Given the description of an element on the screen output the (x, y) to click on. 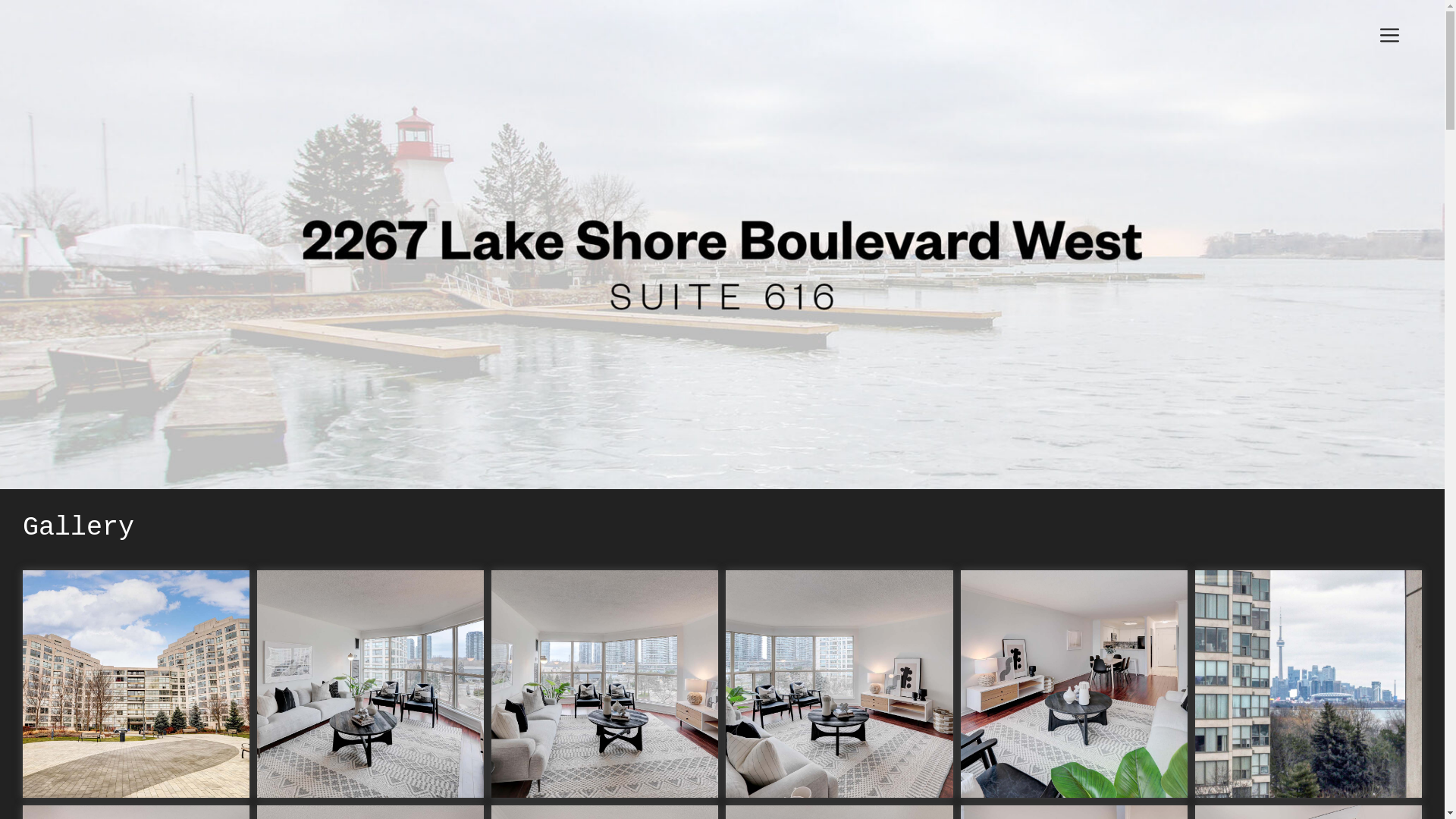
03-2267lakeshore-616 Element type: hover (604, 683)
02-2267lakeshore-616 Element type: hover (370, 683)
Menu Element type: text (1389, 37)
04-2267lakeshore-616 Element type: hover (839, 683)
05-2267lakeshore-616 Element type: hover (1073, 683)
